Given the description of an element on the screen output the (x, y) to click on. 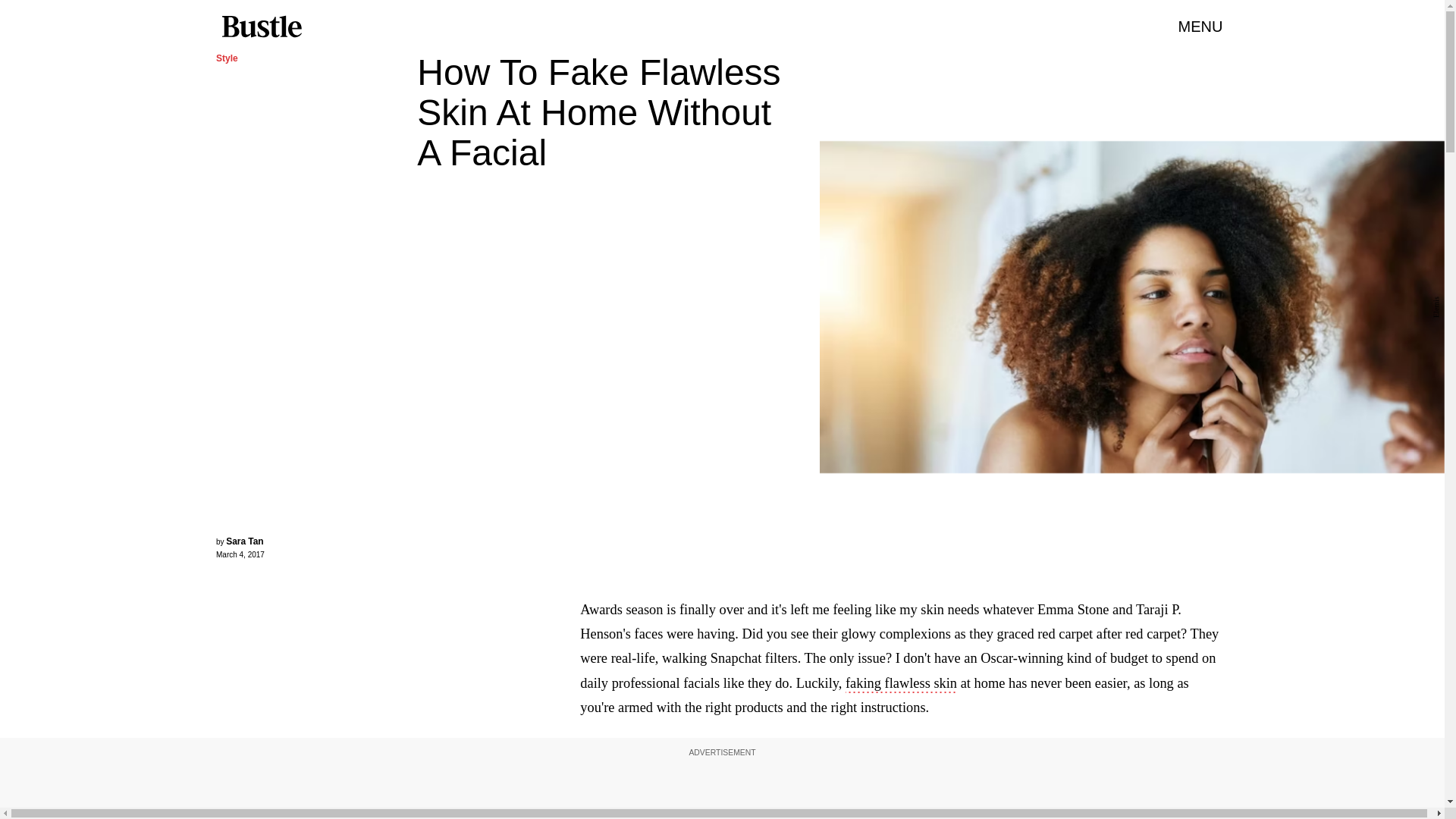
faking flawless skin (900, 684)
Sara Tan (244, 541)
Bustle (261, 26)
